Given the description of an element on the screen output the (x, y) to click on. 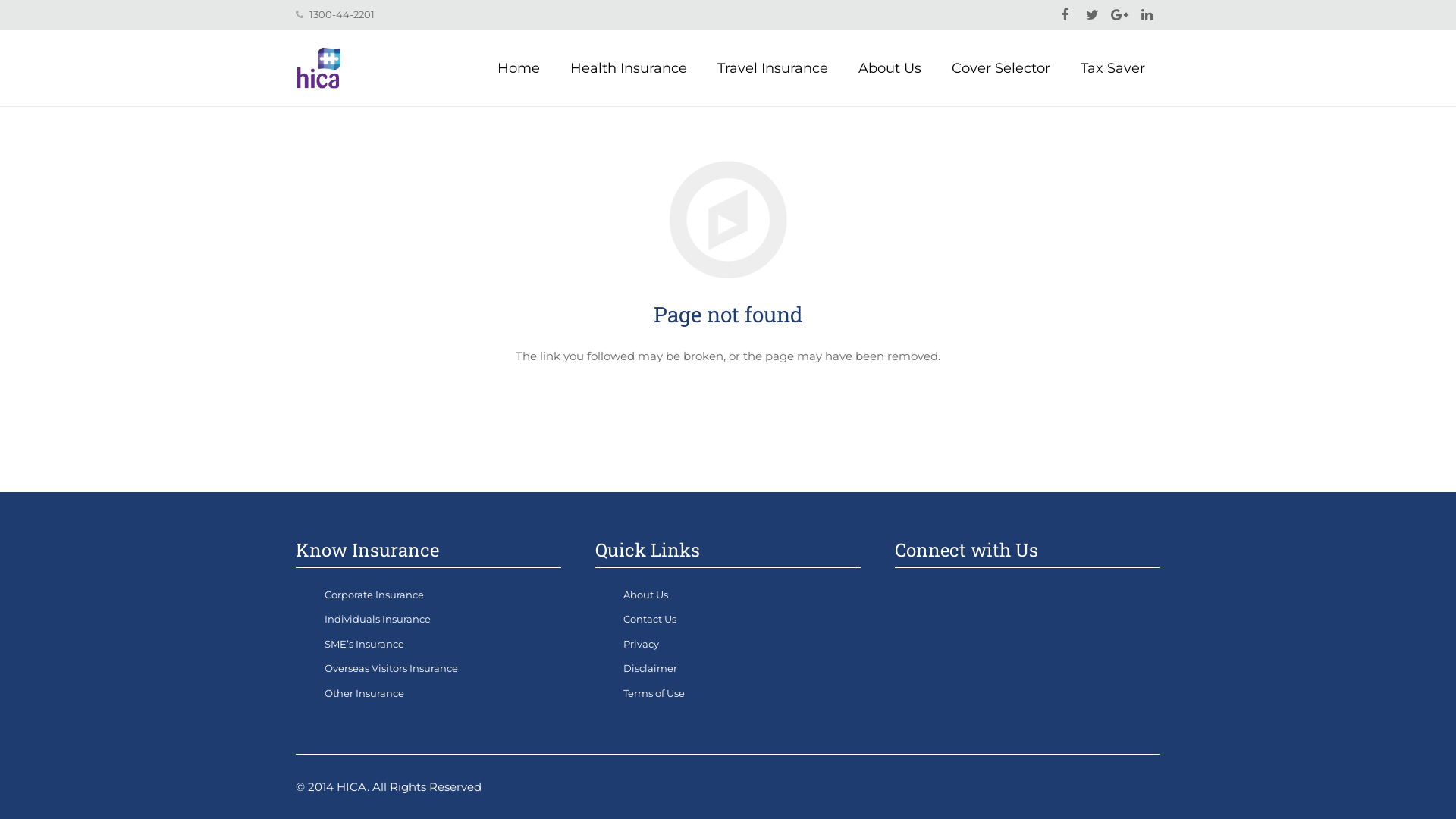
Tax Saver Element type: text (1112, 68)
Disclaimer Element type: text (650, 668)
Privacy Element type: text (640, 643)
Health Insurance Element type: text (628, 68)
Individuals Insurance Element type: text (377, 618)
Corporate Insurance Element type: text (373, 594)
About Us Element type: text (889, 68)
Travel Insurance Element type: text (772, 68)
Home Element type: text (518, 68)
Terms of Use Element type: text (653, 693)
Cover Selector Element type: text (1000, 68)
Other Insurance Element type: text (364, 693)
Contact Us Element type: text (649, 618)
About Us Element type: text (645, 594)
Overseas Visitors Insurance Element type: text (391, 668)
